Given the description of an element on the screen output the (x, y) to click on. 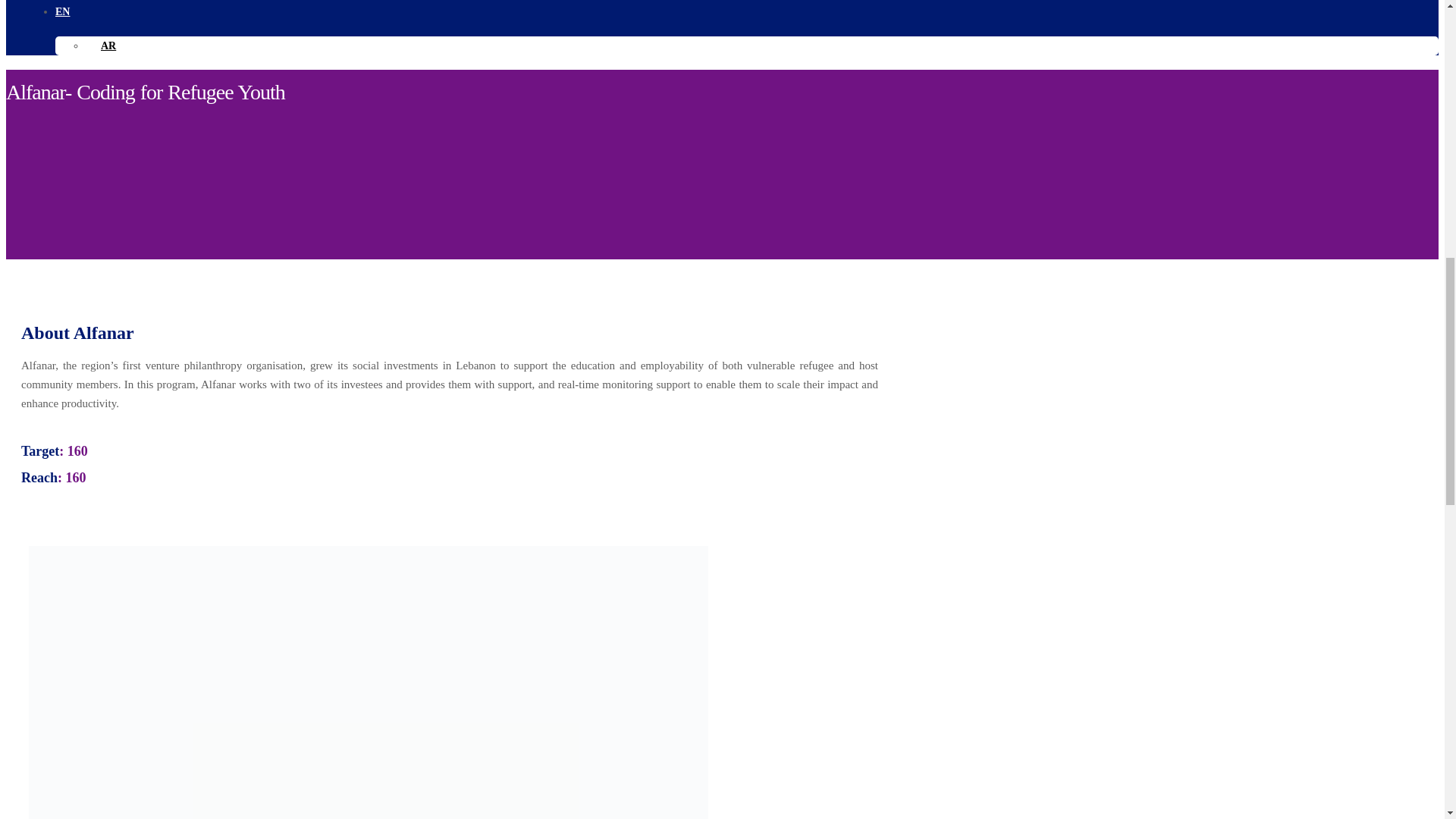
AR (108, 45)
AR (108, 45)
EN (62, 11)
EN (62, 11)
